Given the description of an element on the screen output the (x, y) to click on. 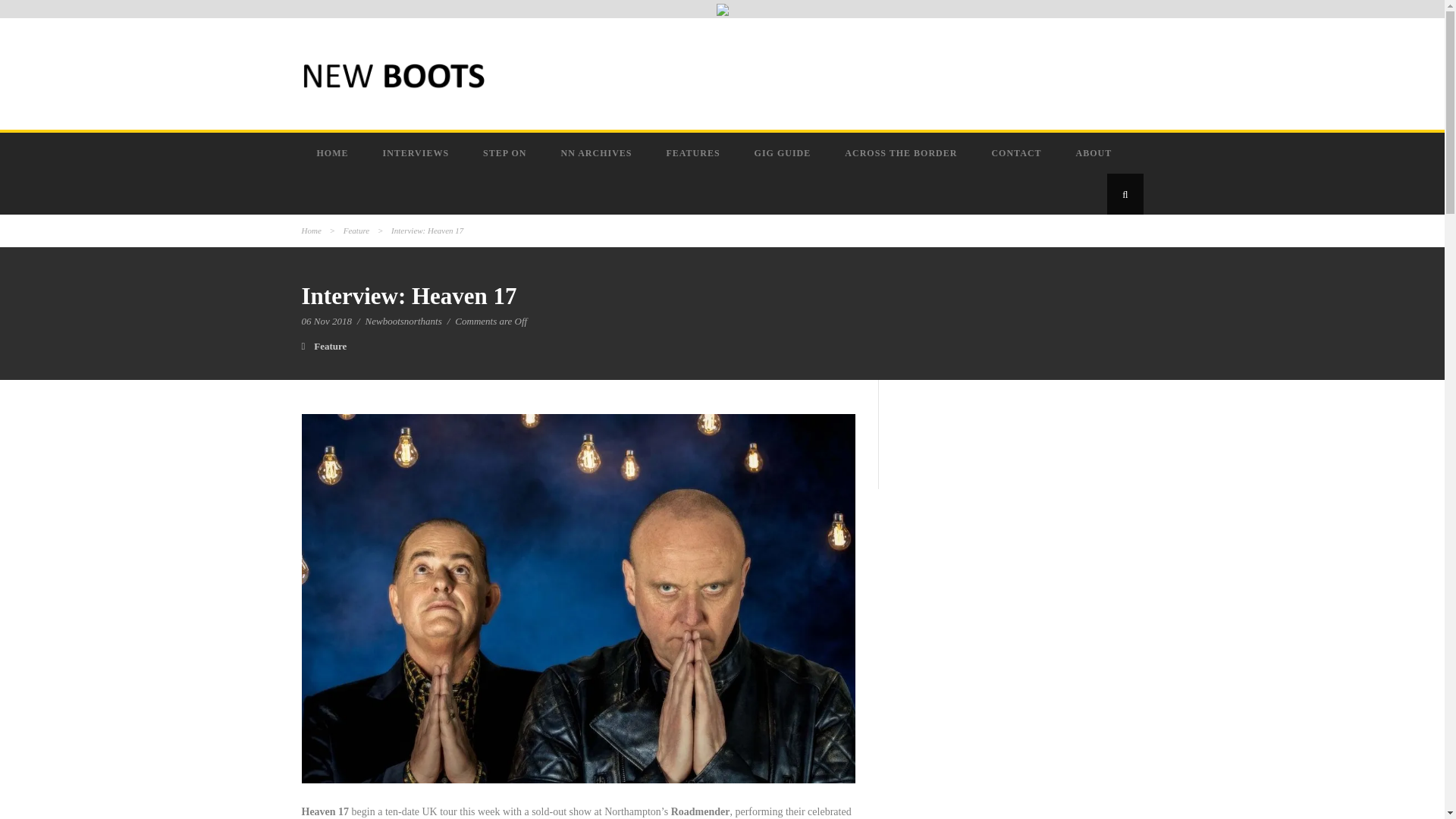
NN ARCHIVES (597, 152)
Feature (356, 230)
FEATURES (694, 152)
GIG GUIDE (784, 152)
Posts by Newbootsnorthants (403, 320)
STEP ON (505, 152)
HOME (334, 152)
Home (311, 230)
INTERVIEWS (416, 152)
ABOUT (1096, 152)
